Given the description of an element on the screen output the (x, y) to click on. 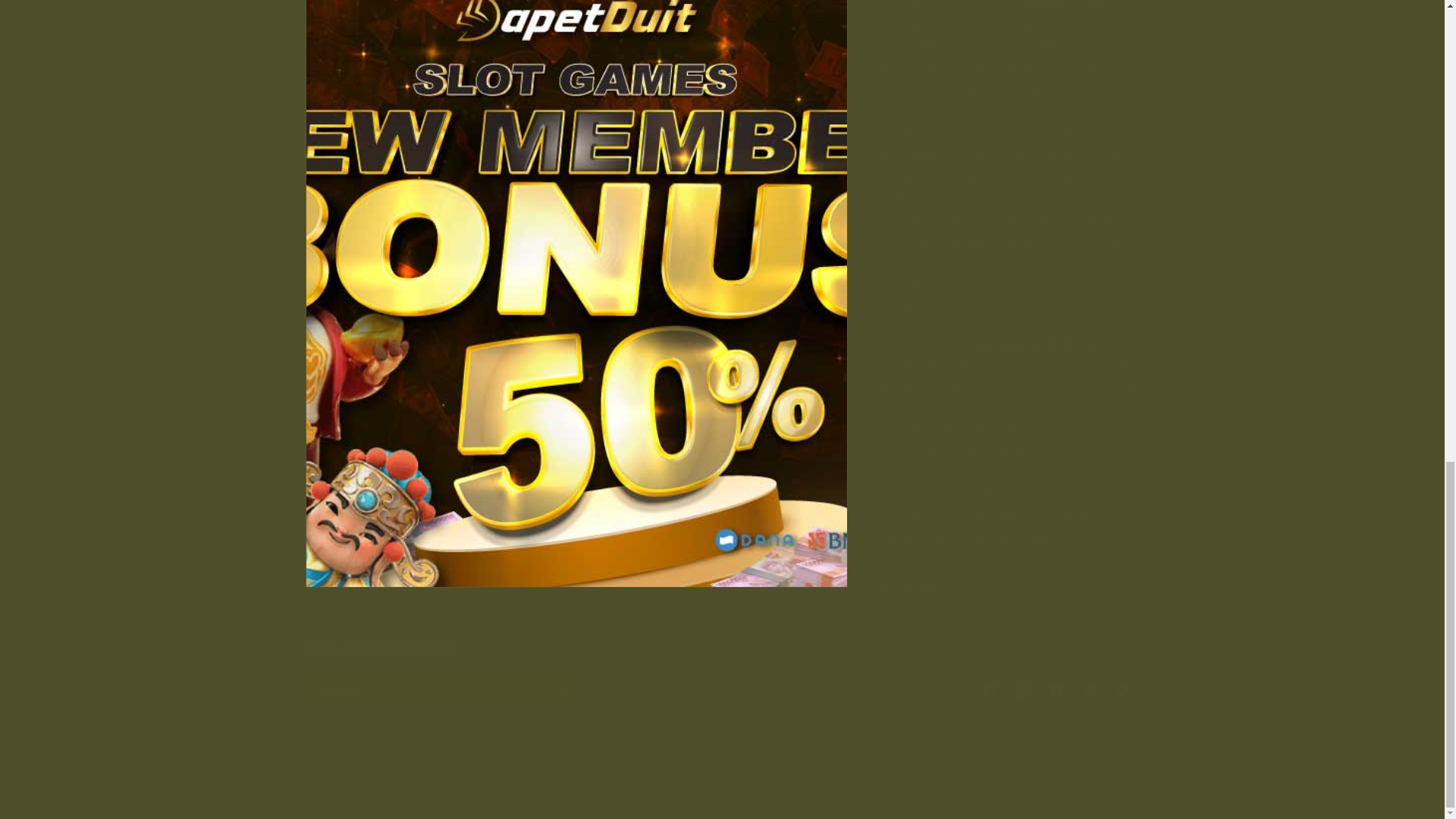
Instagram (1022, 690)
Situs Slot Online Gacor (380, 647)
Situs Slot Online Gacor (380, 647)
YouTube (1055, 690)
Twitter (1121, 690)
Facebook (989, 690)
TikTok (1088, 690)
situs Dapetduit official (1035, 330)
